Given the description of an element on the screen output the (x, y) to click on. 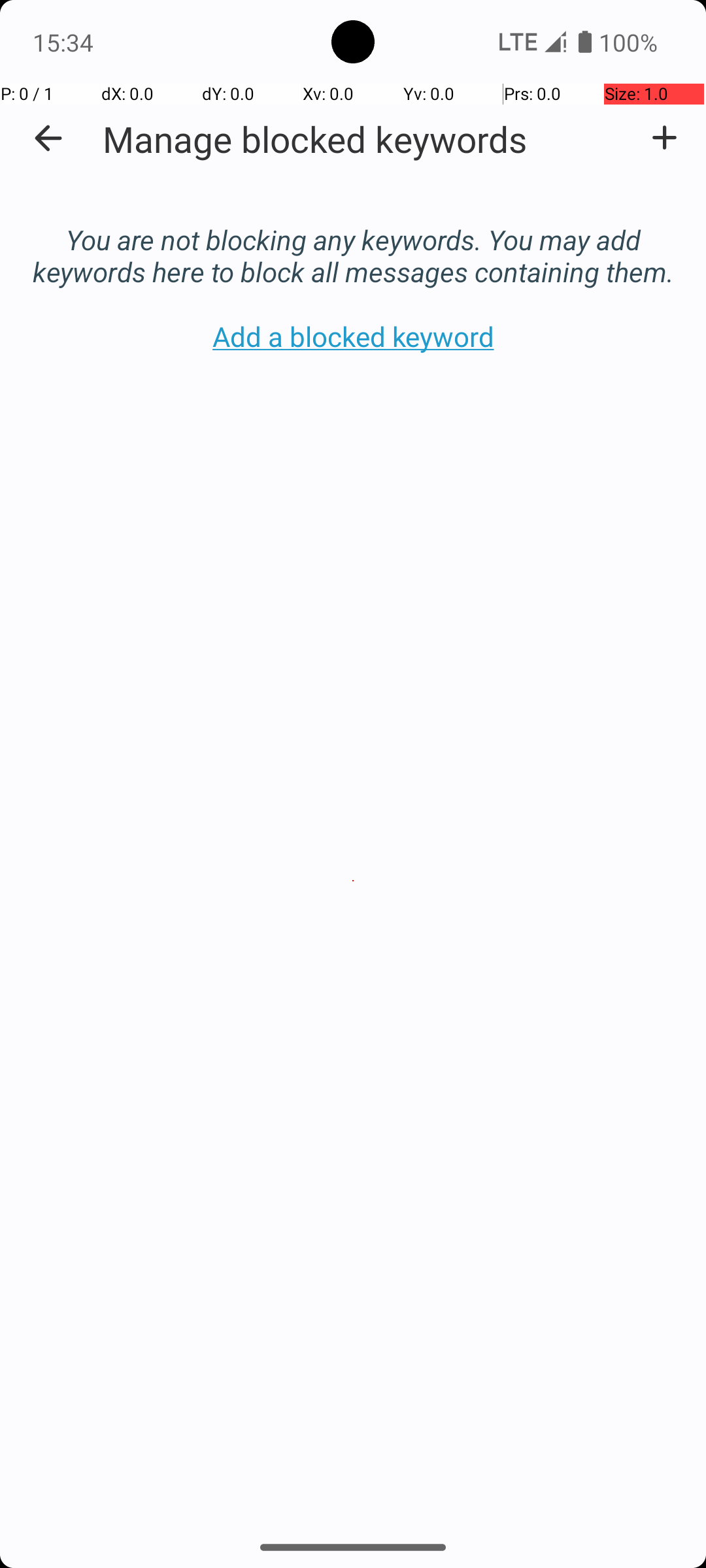
Add a blocked keyword Element type: android.widget.Button (664, 137)
You are not blocking any keywords. You may add keywords here to block all messages containing them. Element type: android.widget.TextView (353, 241)
